Given the description of an element on the screen output the (x, y) to click on. 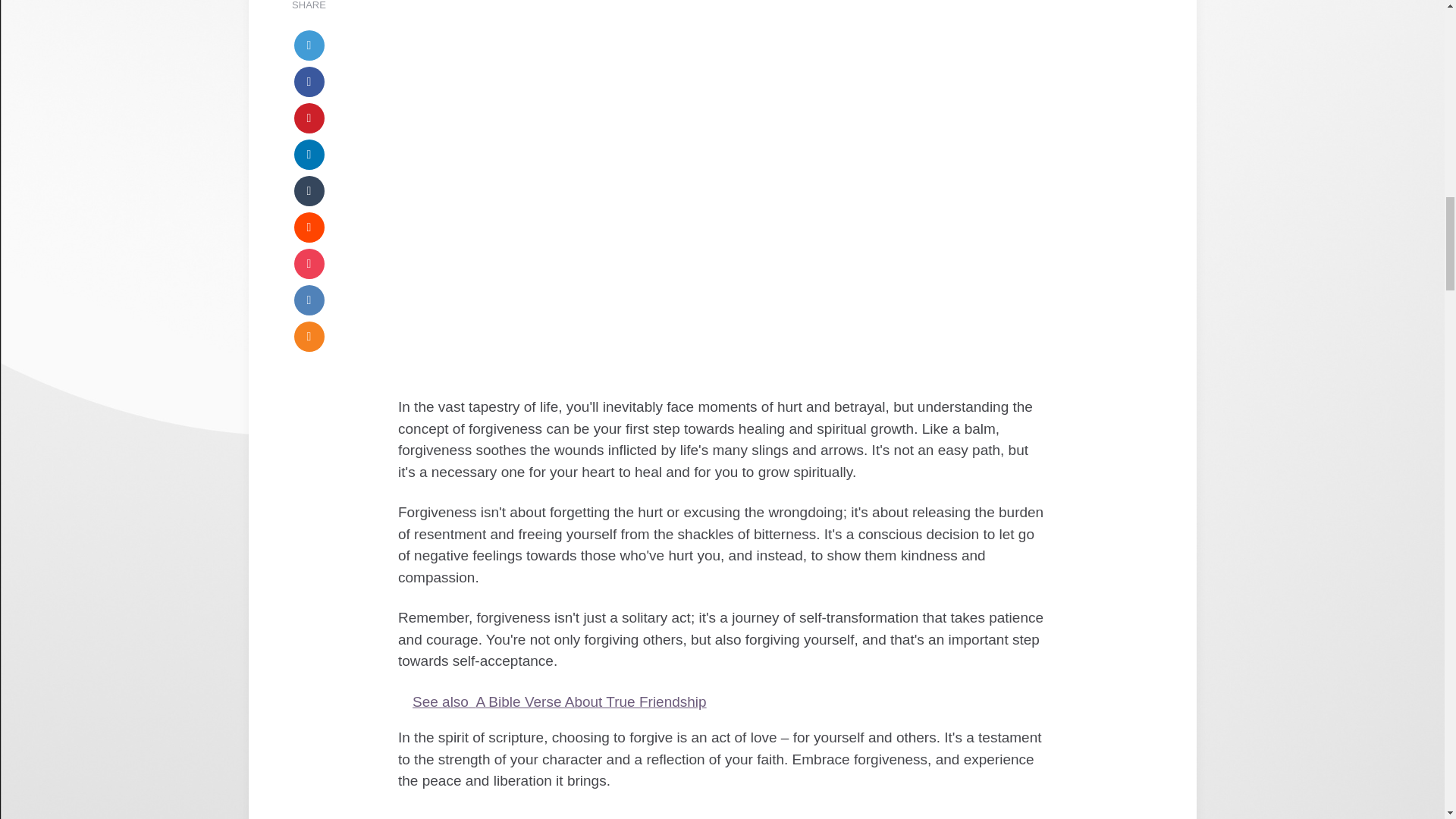
See also  A Bible Verse About True Friendship (721, 702)
